Given the description of an element on the screen output the (x, y) to click on. 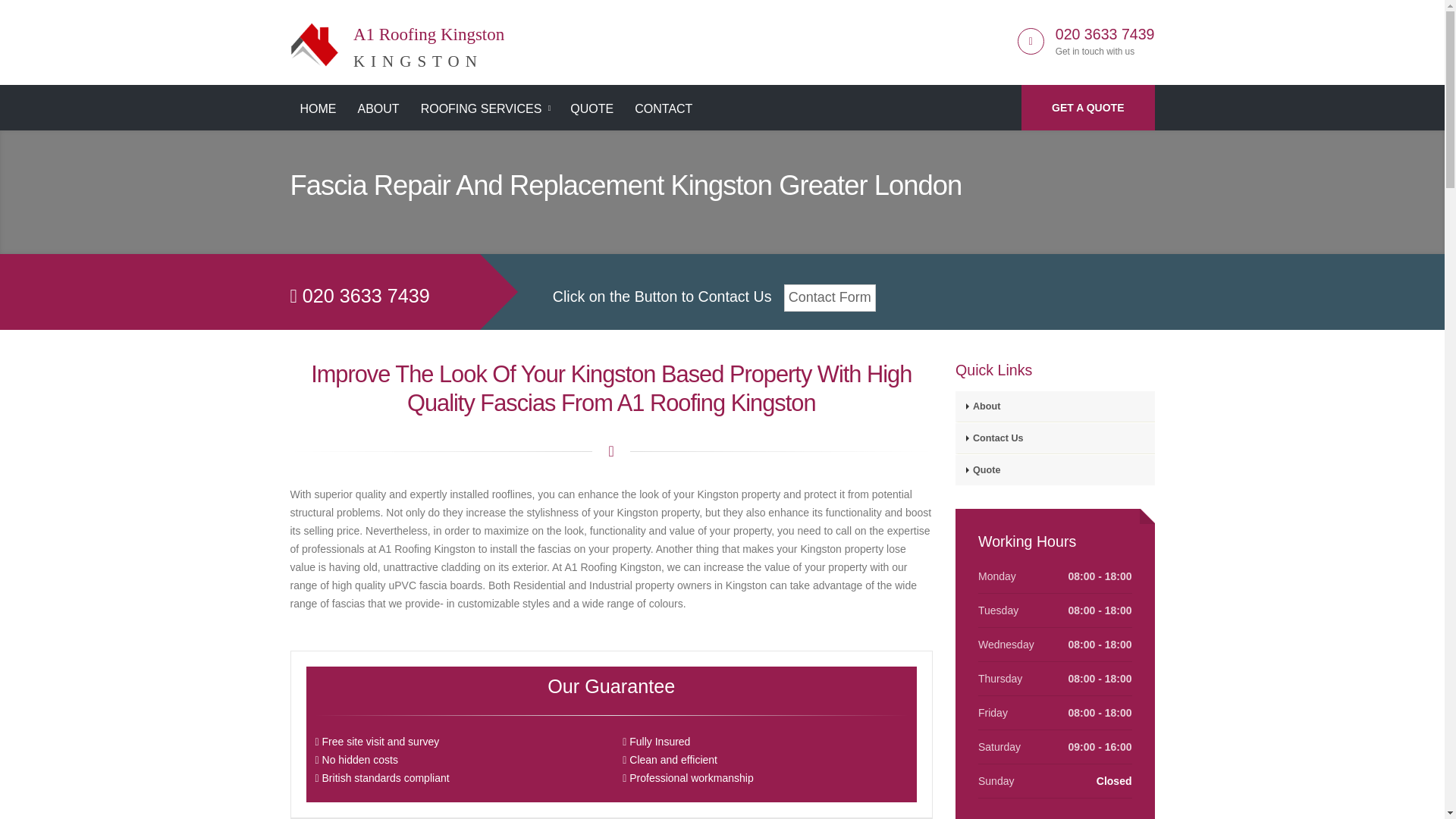
ROOFING SERVICES (484, 109)
Contact Form (830, 298)
QUOTE (396, 38)
ABOUT (591, 109)
CONTACT (378, 109)
GET A QUOTE (662, 109)
HOME (1088, 107)
020 3633 7439 (317, 109)
